Given the description of an element on the screen output the (x, y) to click on. 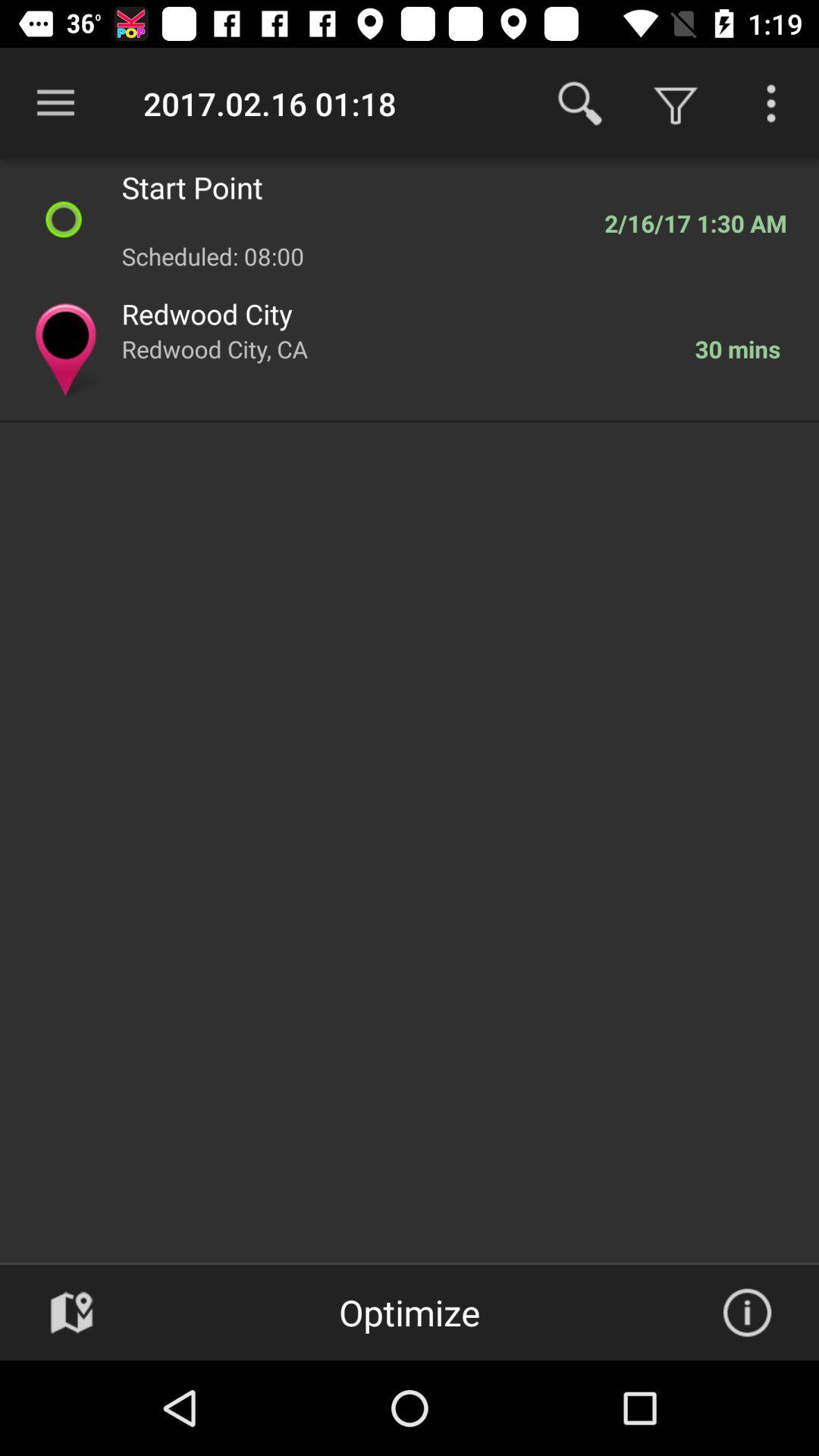
go to map (71, 1312)
